Given the description of an element on the screen output the (x, y) to click on. 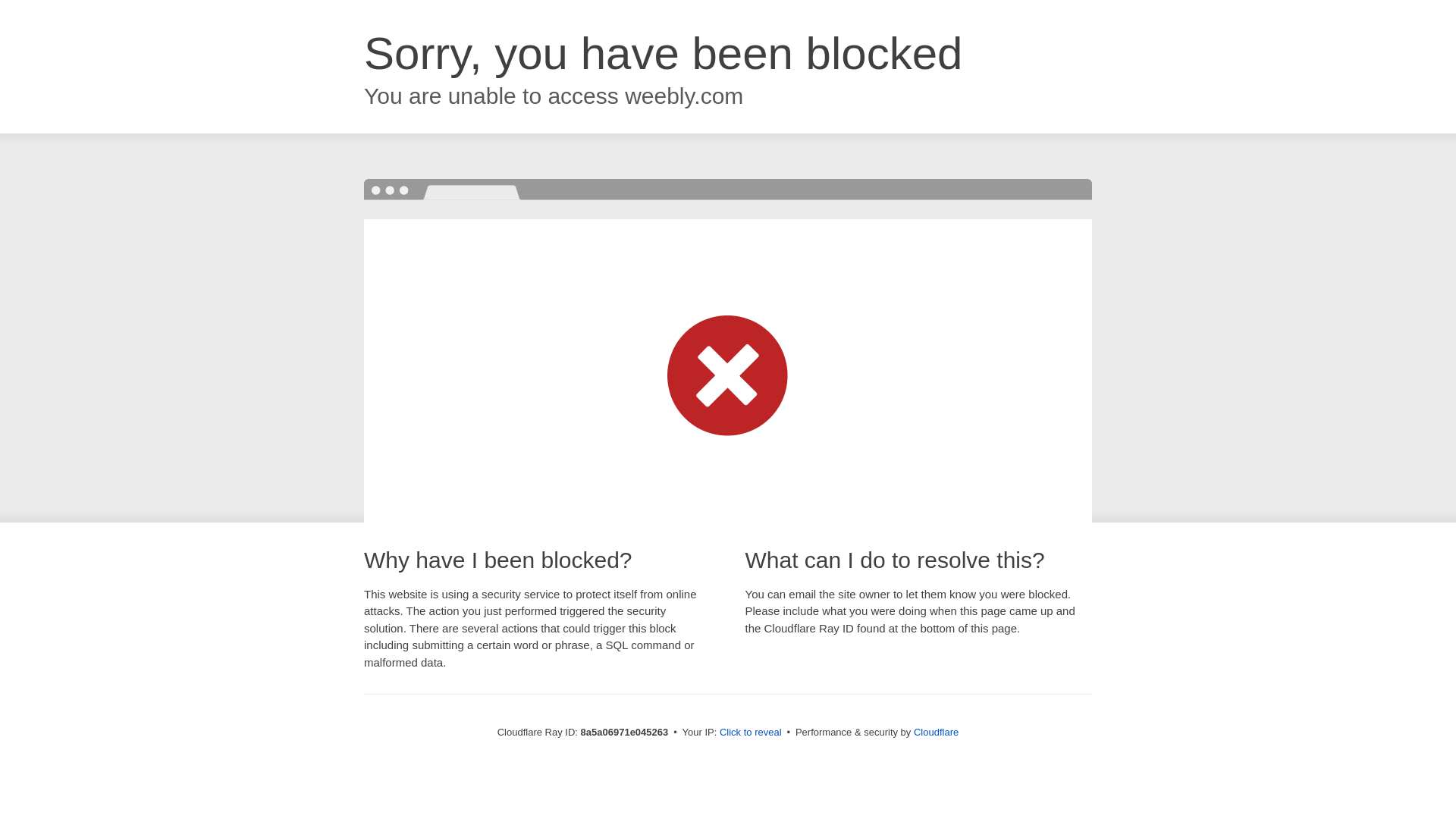
Cloudflare (936, 731)
Click to reveal (750, 732)
